Given the description of an element on the screen output the (x, y) to click on. 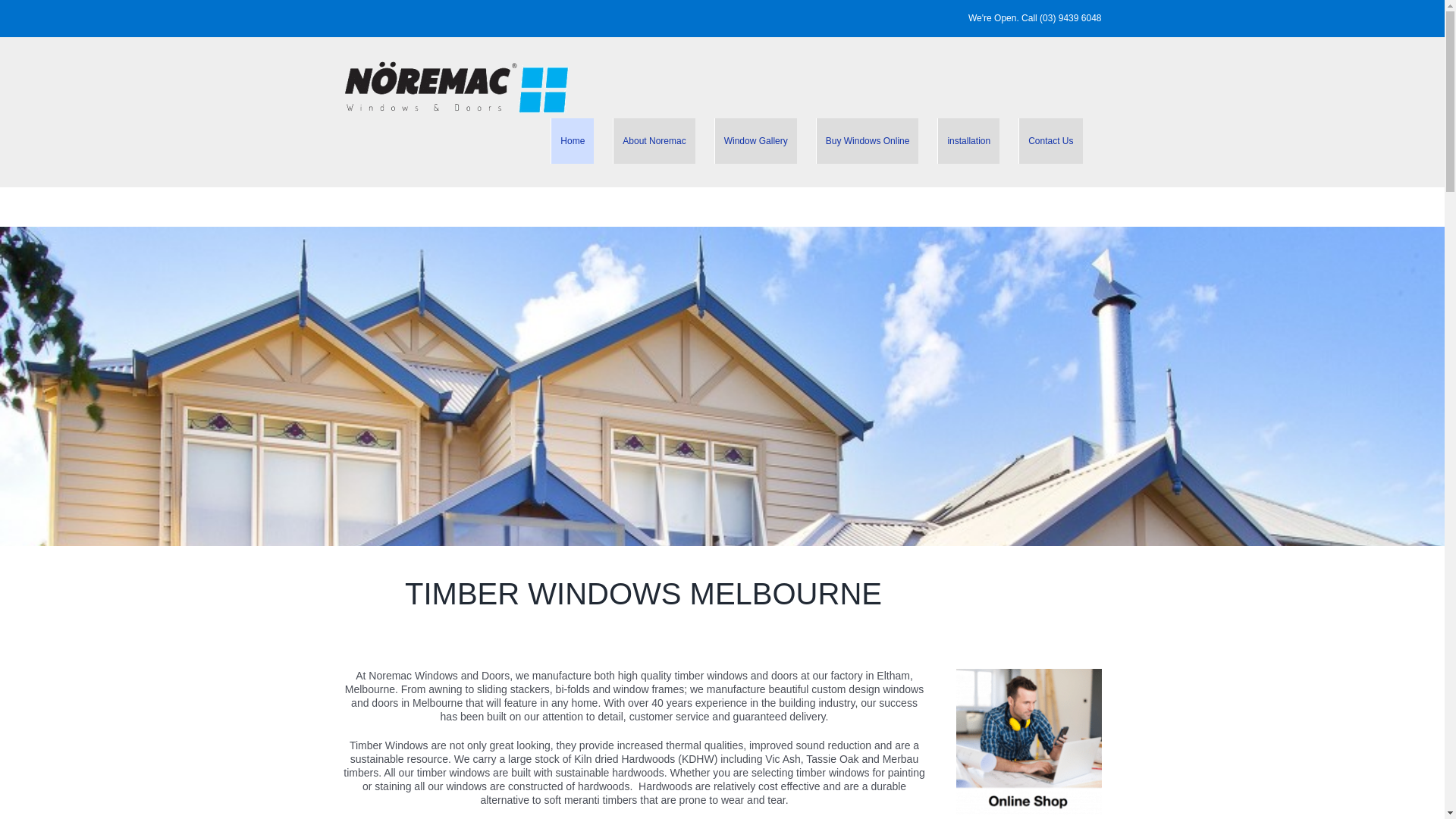
Contact Us Element type: text (1050, 140)
installation Element type: text (968, 140)
Window Gallery Element type: text (755, 140)
Buy Windows Online Element type: text (867, 140)
Home Element type: text (571, 140)
About Noremac Element type: text (653, 140)
We're Open. Call (03) 9439 6048 Element type: text (1034, 17)
